Given the description of an element on the screen output the (x, y) to click on. 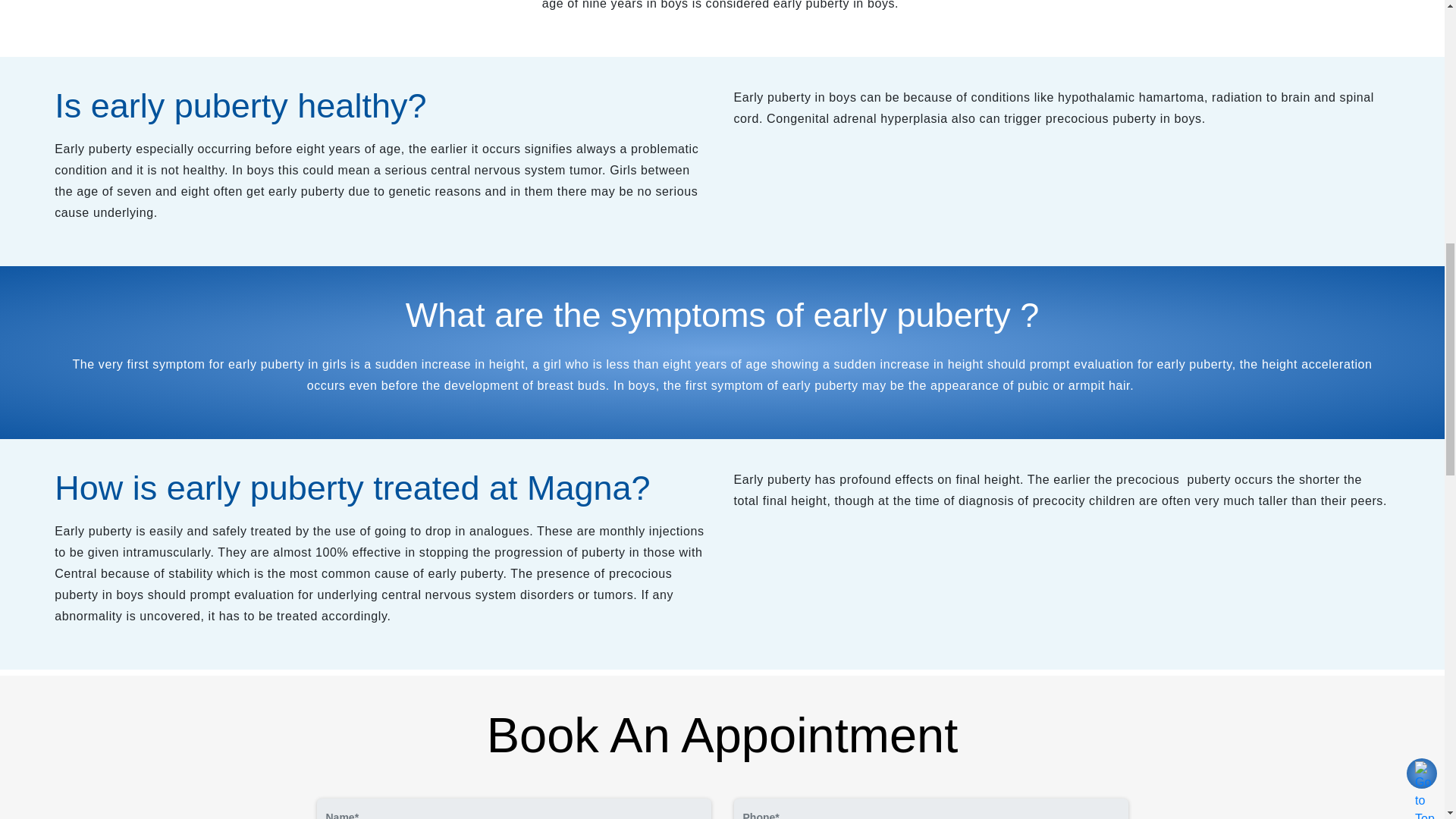
10 digit mobile number (930, 808)
